Given the description of an element on the screen output the (x, y) to click on. 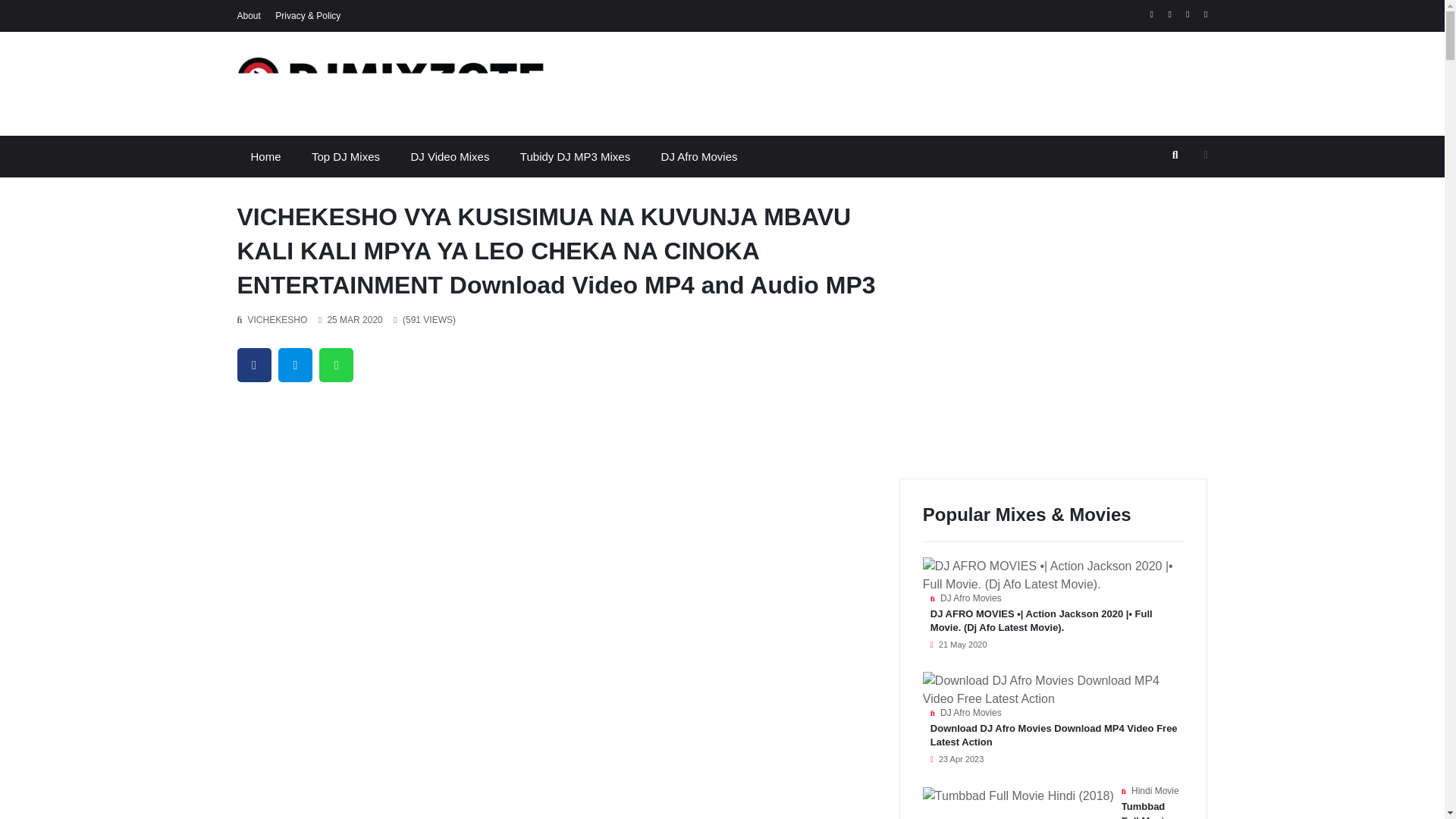
Tubidy DJ MP3 Mixes (574, 156)
DJ Video Mixes (449, 156)
Home (264, 156)
DJ Afro Movies (699, 156)
VICHEKESHO (277, 319)
Top DJ Mixes (345, 156)
